Given the description of an element on the screen output the (x, y) to click on. 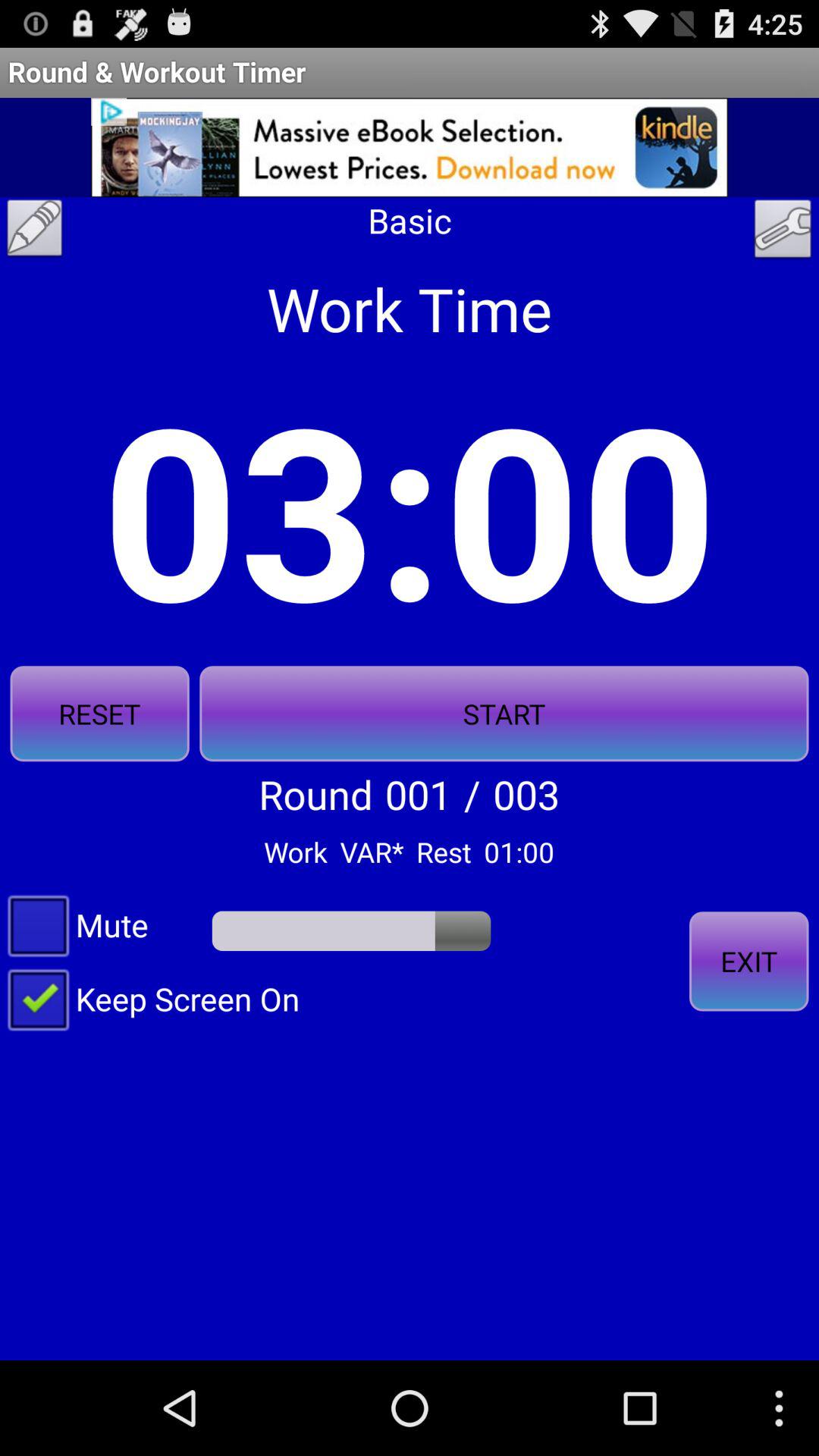
edit title (34, 232)
